Given the description of an element on the screen output the (x, y) to click on. 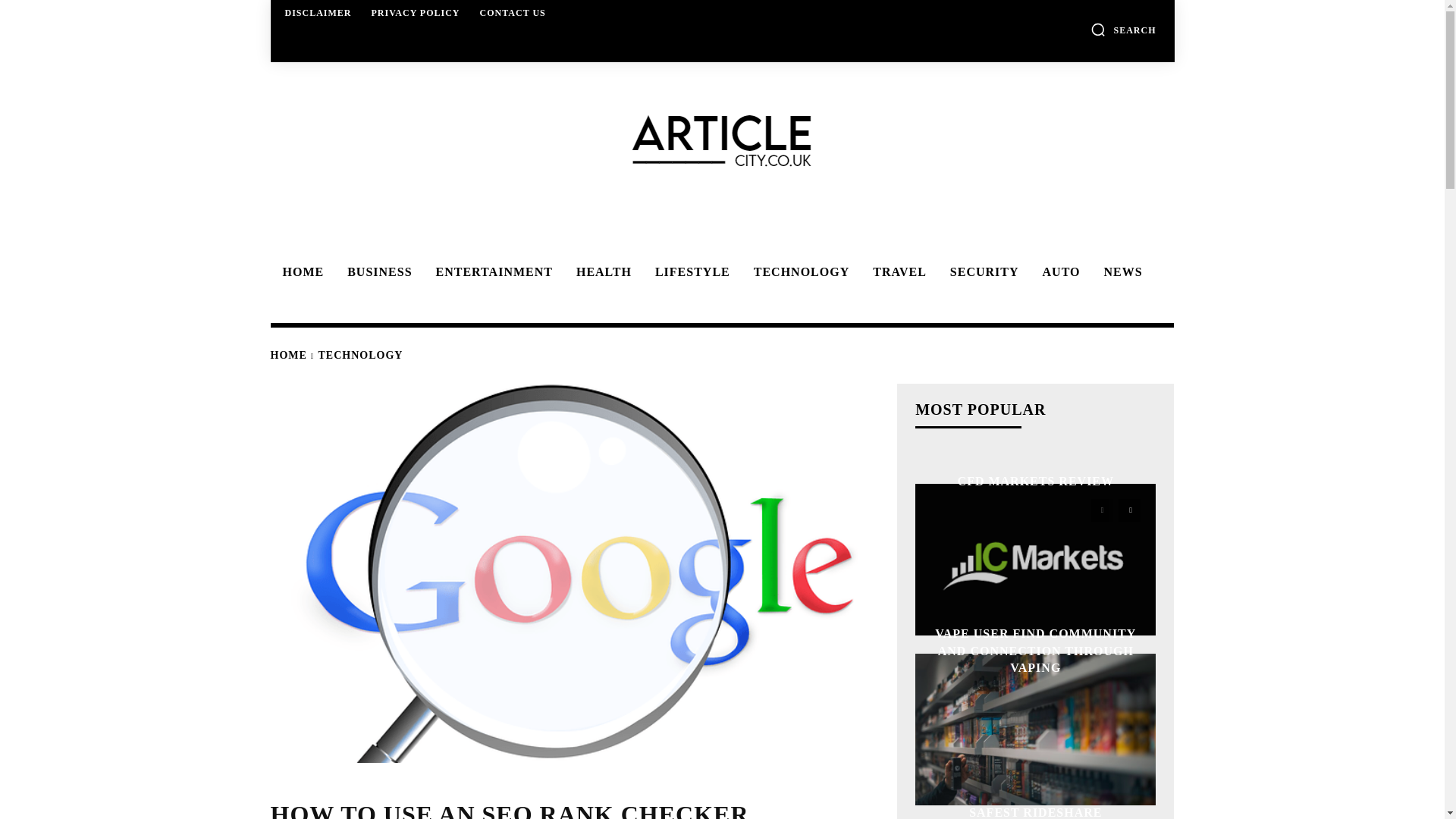
CONTACT US (512, 12)
TRAVEL (897, 271)
LIFESTYLE (690, 271)
SEARCH (1123, 29)
View all posts in Technology (360, 355)
SECURITY (981, 271)
HEALTH (601, 271)
TECHNOLOGY (799, 271)
AUTO (1058, 271)
BUSINESS (376, 271)
ENTERTAINMENT (491, 271)
HOME (300, 271)
DISCLAIMER (318, 12)
PRIVACY POLICY (415, 12)
NEWS (1120, 271)
